Given the description of an element on the screen output the (x, y) to click on. 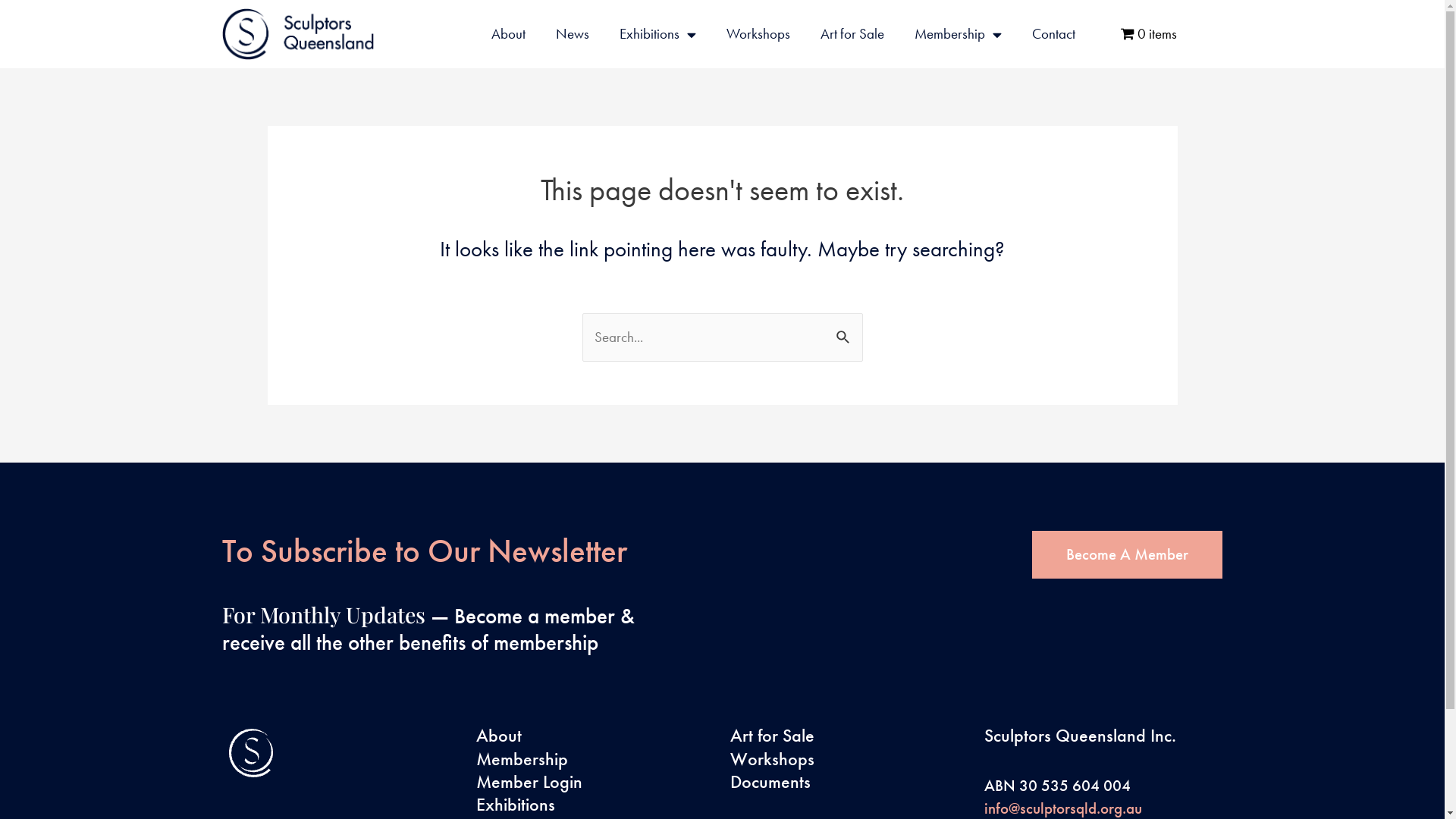
Contact Element type: text (1053, 33)
Exhibitions Element type: text (595, 804)
Art for Sale Element type: text (848, 735)
Documents Element type: text (848, 781)
Membership Element type: text (957, 33)
About Element type: text (595, 735)
Exhibitions Element type: text (657, 33)
0 items Element type: text (1148, 33)
Become A Member Element type: text (1127, 554)
Workshops Element type: text (848, 758)
Member Login Element type: text (595, 781)
Workshops Element type: text (758, 33)
News Element type: text (572, 33)
About Element type: text (508, 33)
Membership Element type: text (595, 758)
Art for Sale Element type: text (852, 33)
Search Element type: text (845, 329)
